Given the description of an element on the screen output the (x, y) to click on. 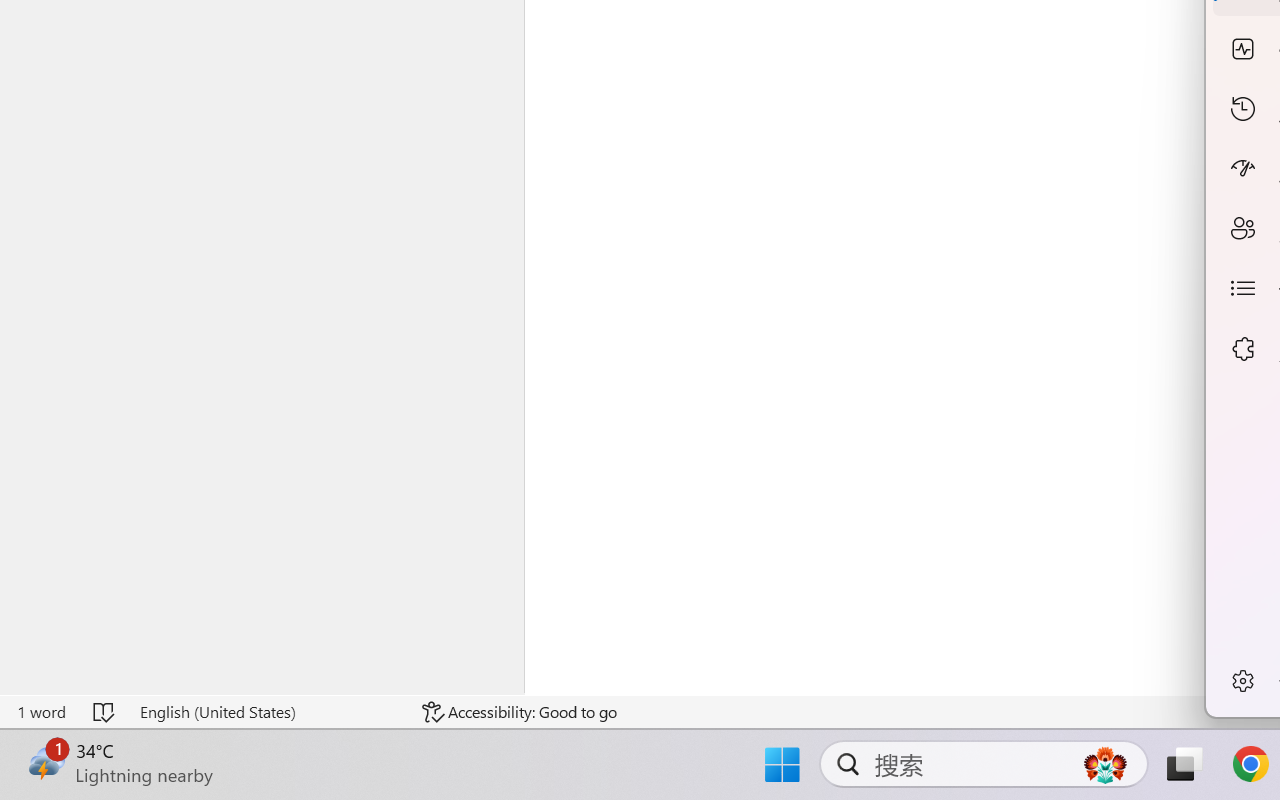
Language English (United States) (267, 712)
Word Count 1 word (41, 712)
Spelling and Grammar Check No Errors (105, 712)
